Given the description of an element on the screen output the (x, y) to click on. 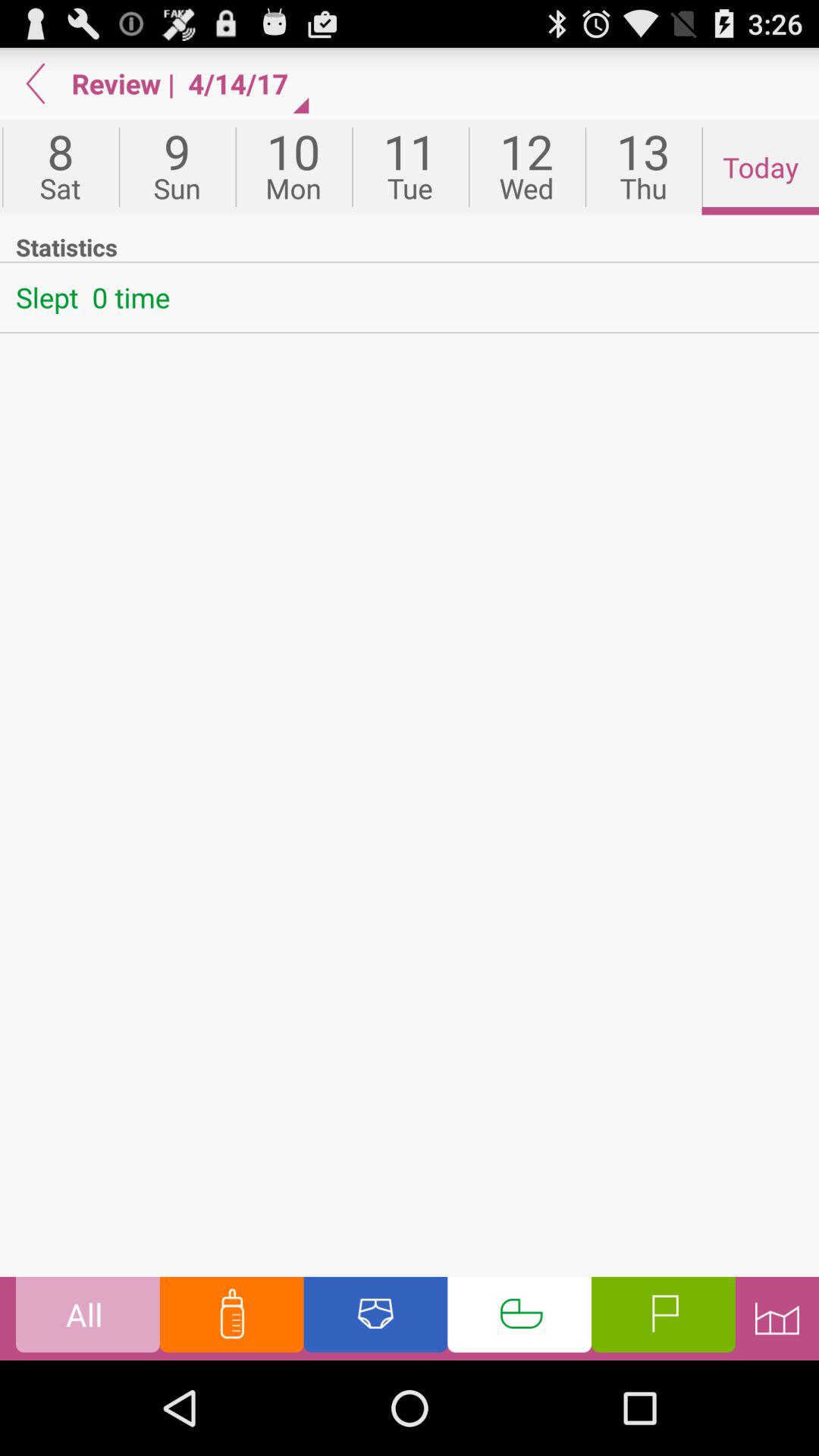
tap the mon icon (293, 166)
